Given the description of an element on the screen output the (x, y) to click on. 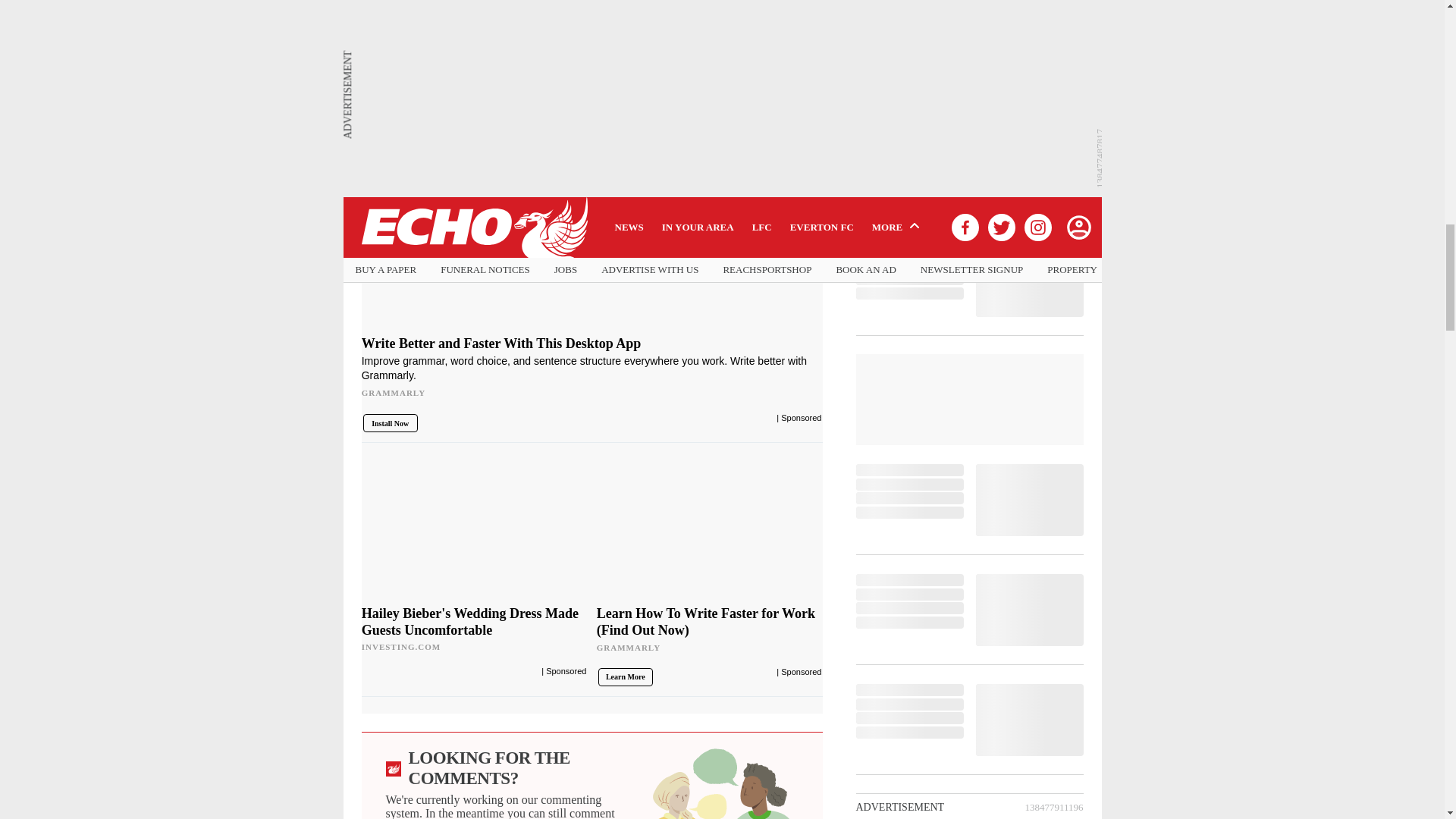
Facebook (420, 33)
Instagram (646, 33)
Write Better and Faster With This Desktop App (591, 372)
Hailey Bieber's Wedding Dress Made Guests Uncomfortable (474, 629)
Hailey Bieber's Wedding Dress Made Guests Uncomfortable (474, 529)
Install Now (389, 423)
Twitter (530, 33)
Write Better and Faster With This Desktop App (591, 207)
